Given the description of an element on the screen output the (x, y) to click on. 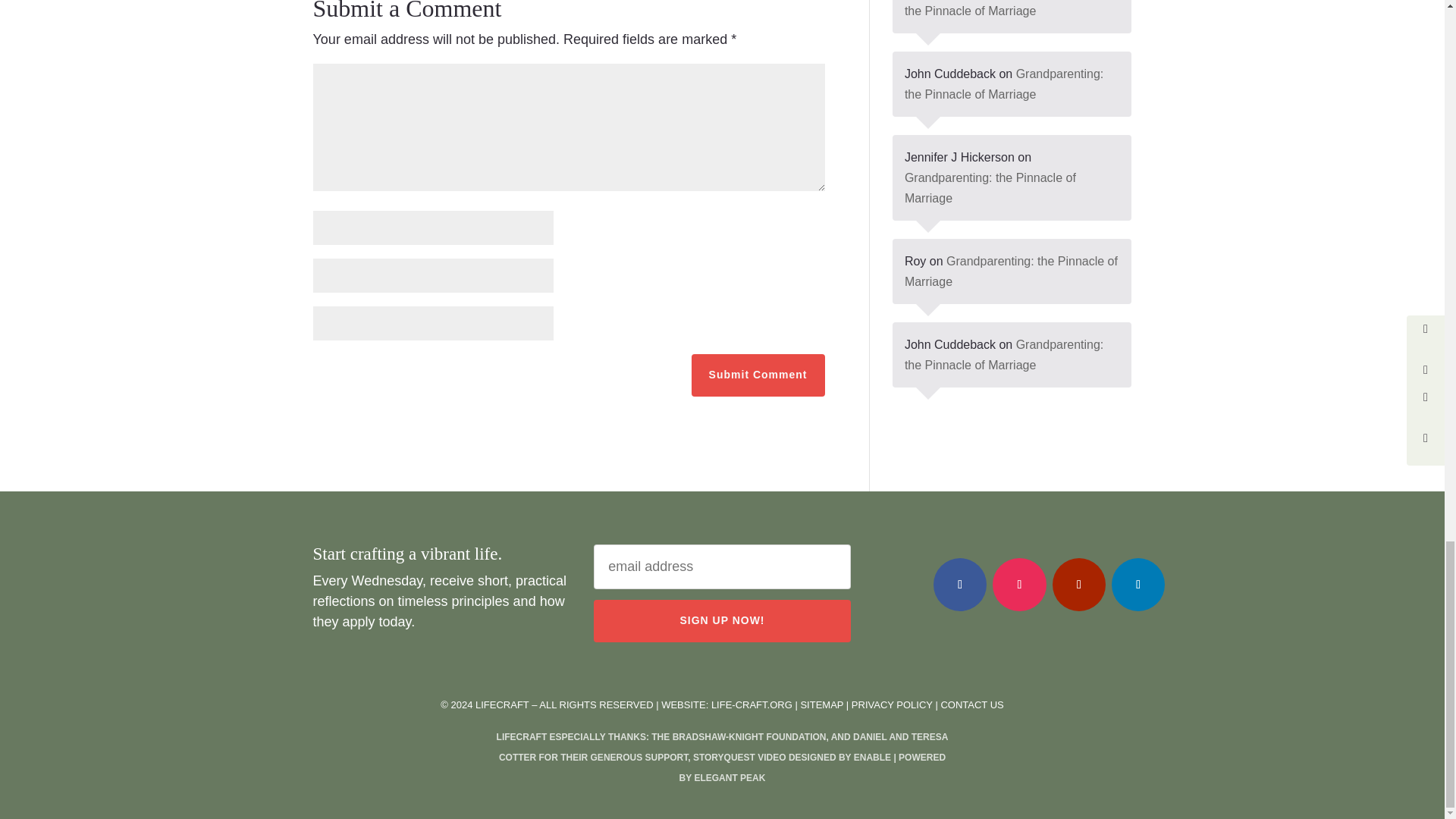
Follow on Youtube (1078, 583)
SIGN UP NOW! (722, 620)
Follow on LinkedIn (1138, 583)
Submit Comment (758, 374)
Follow on Facebook (960, 583)
Follow on Instagram (1018, 583)
